Given the description of an element on the screen output the (x, y) to click on. 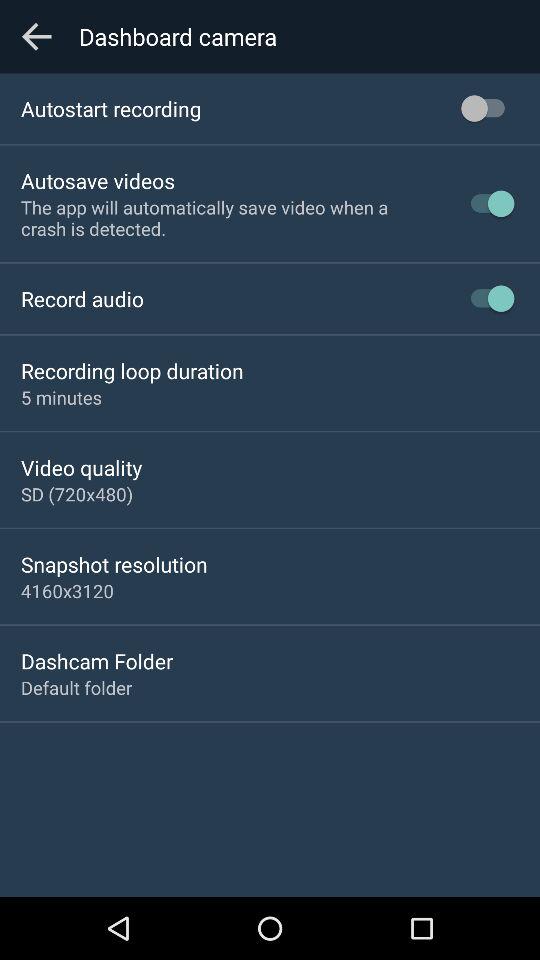
turn off record audio app (82, 298)
